Given the description of an element on the screen output the (x, y) to click on. 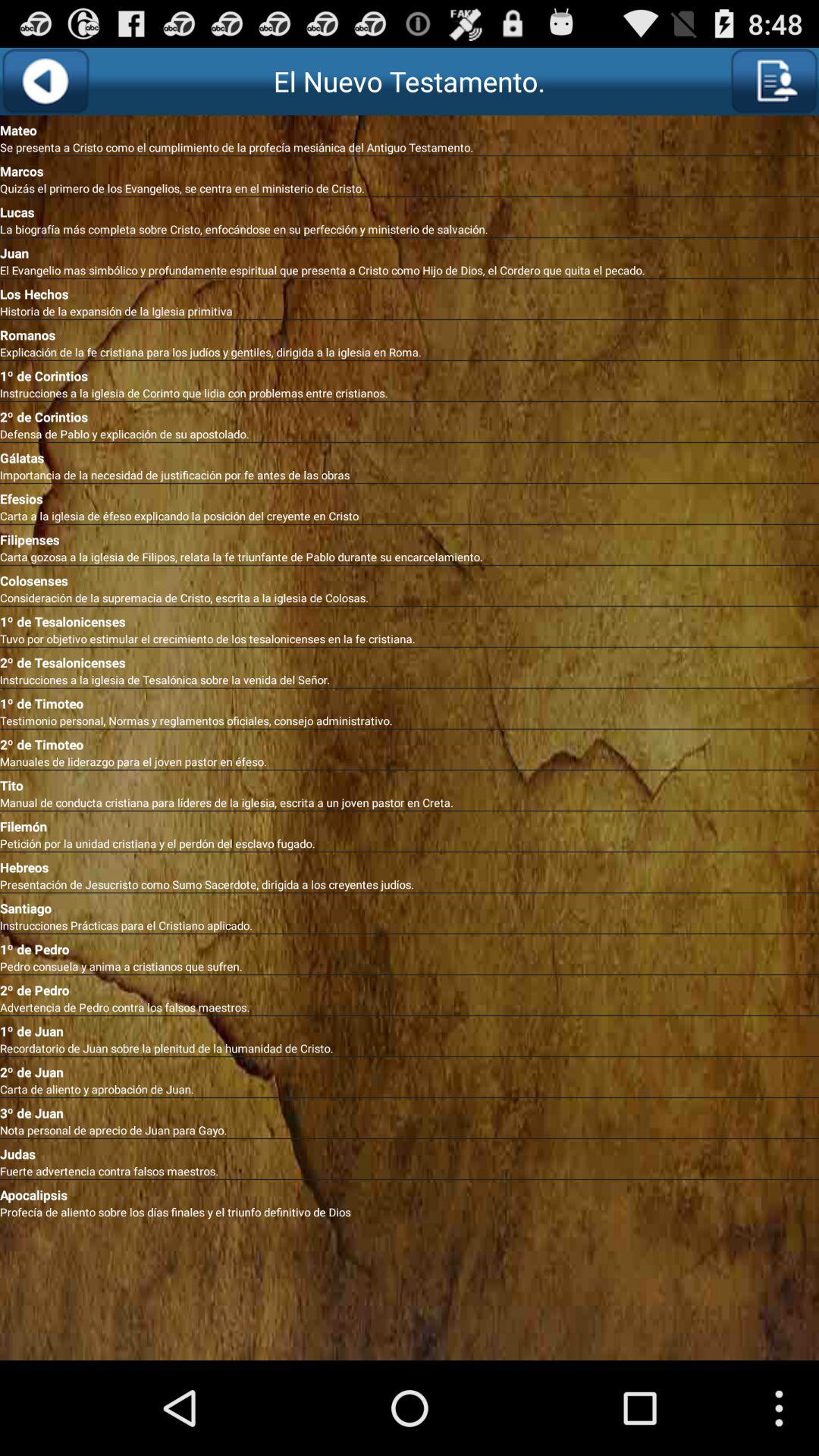
click icon above the efesios icon (409, 474)
